Given the description of an element on the screen output the (x, y) to click on. 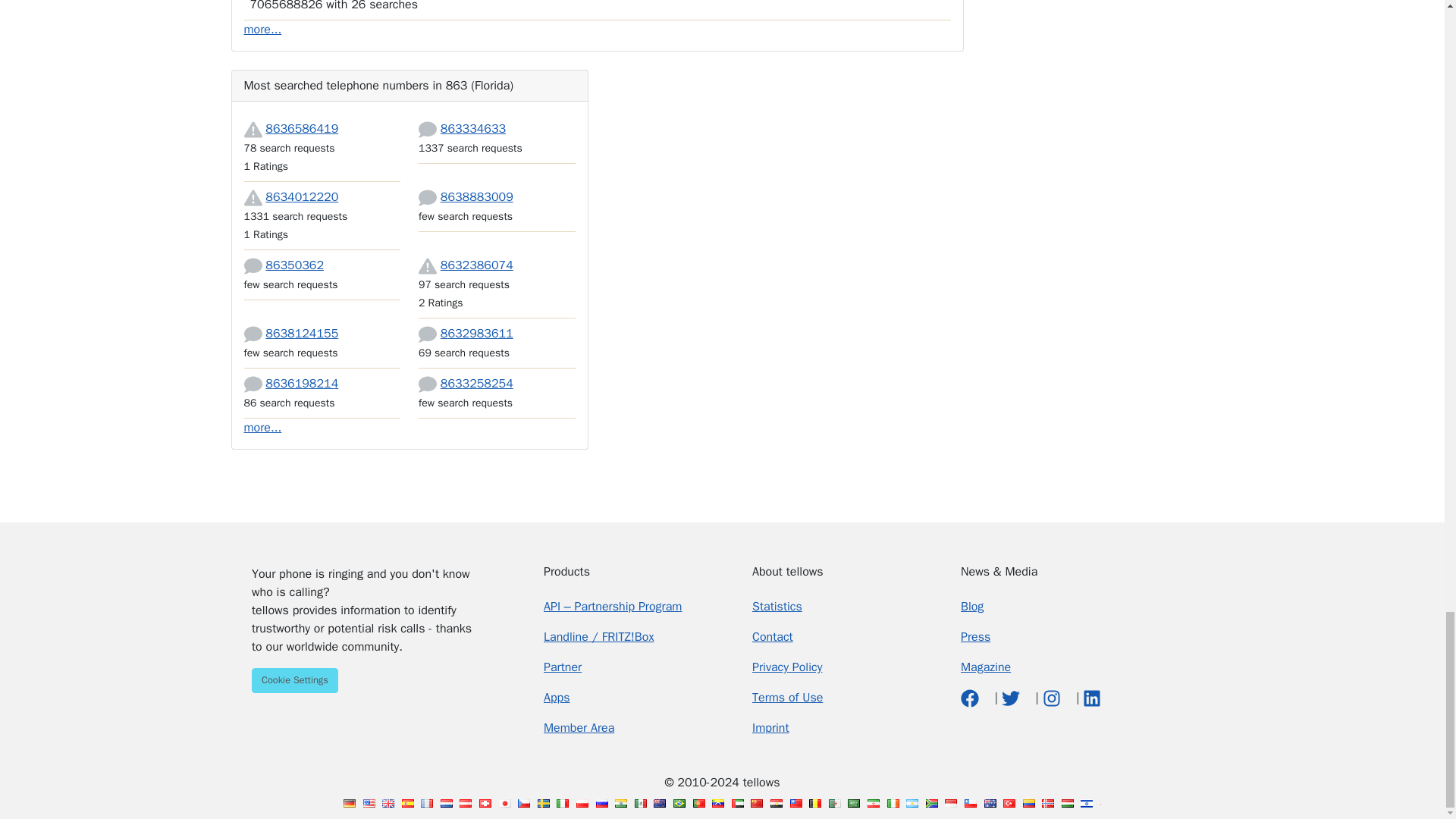
Magazin (985, 667)
tellows Great Britain (387, 803)
Blog (972, 606)
tellows Spain (407, 803)
Presse (975, 636)
tellows USA (368, 803)
Facebook (971, 697)
twitter (1012, 697)
tellows Germany (349, 803)
LinkedIn (1091, 697)
tellows France (426, 803)
Instagram (1053, 697)
tellows Austria (465, 803)
tellows Netherlands (446, 803)
